Given the description of an element on the screen output the (x, y) to click on. 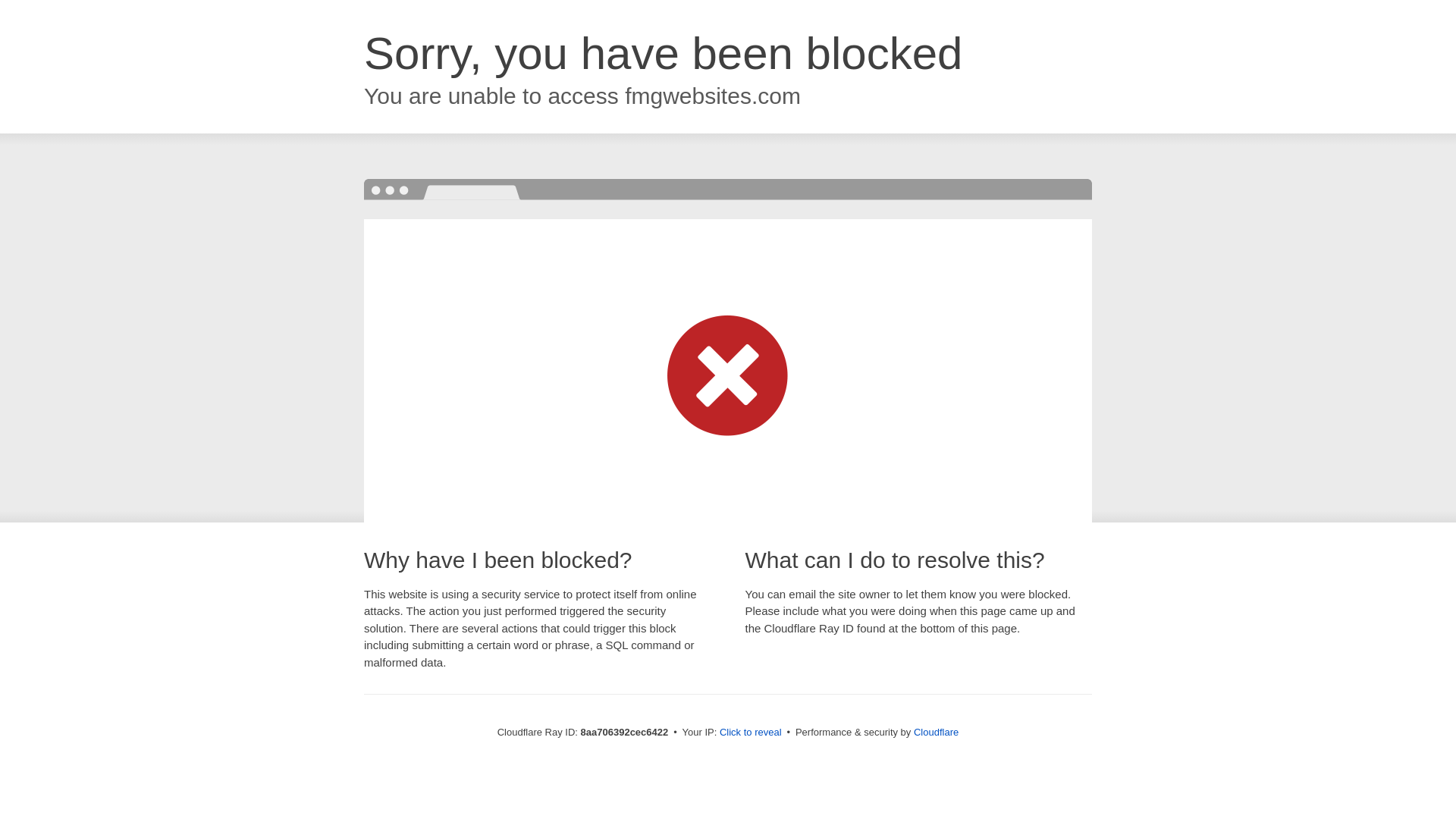
Cloudflare (936, 731)
Click to reveal (750, 732)
